Given the description of an element on the screen output the (x, y) to click on. 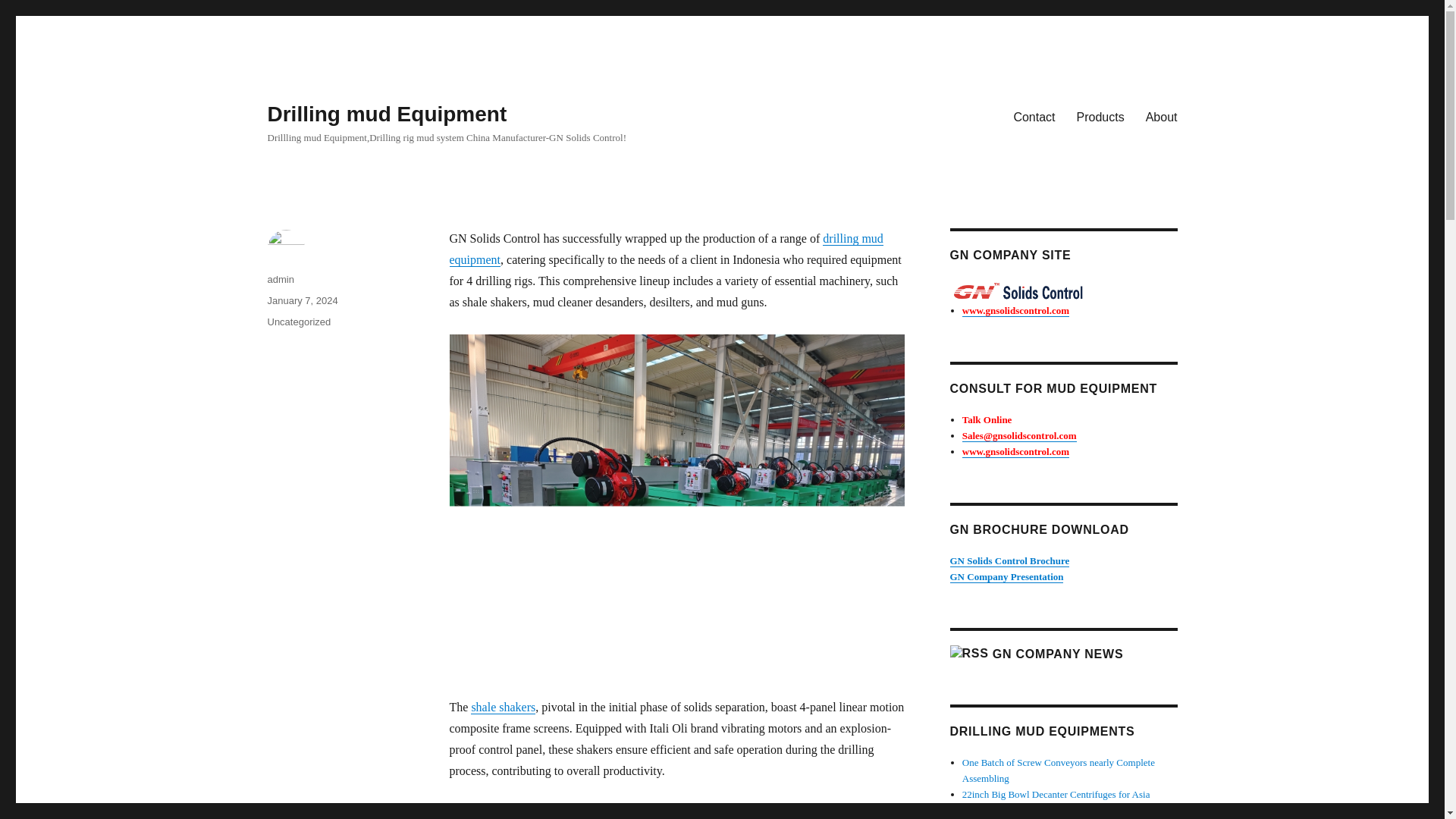
GN brochure (1008, 560)
www.gnsolidscontrol.com (1015, 310)
drilling mud equipment (665, 248)
About (1161, 116)
admin (280, 279)
January 7, 2024 (301, 300)
Contact (1034, 116)
GN Solids Control Brochure (1008, 560)
GN reference list (1005, 576)
www.gnsolidscontrol.com (1015, 451)
